Given the description of an element on the screen output the (x, y) to click on. 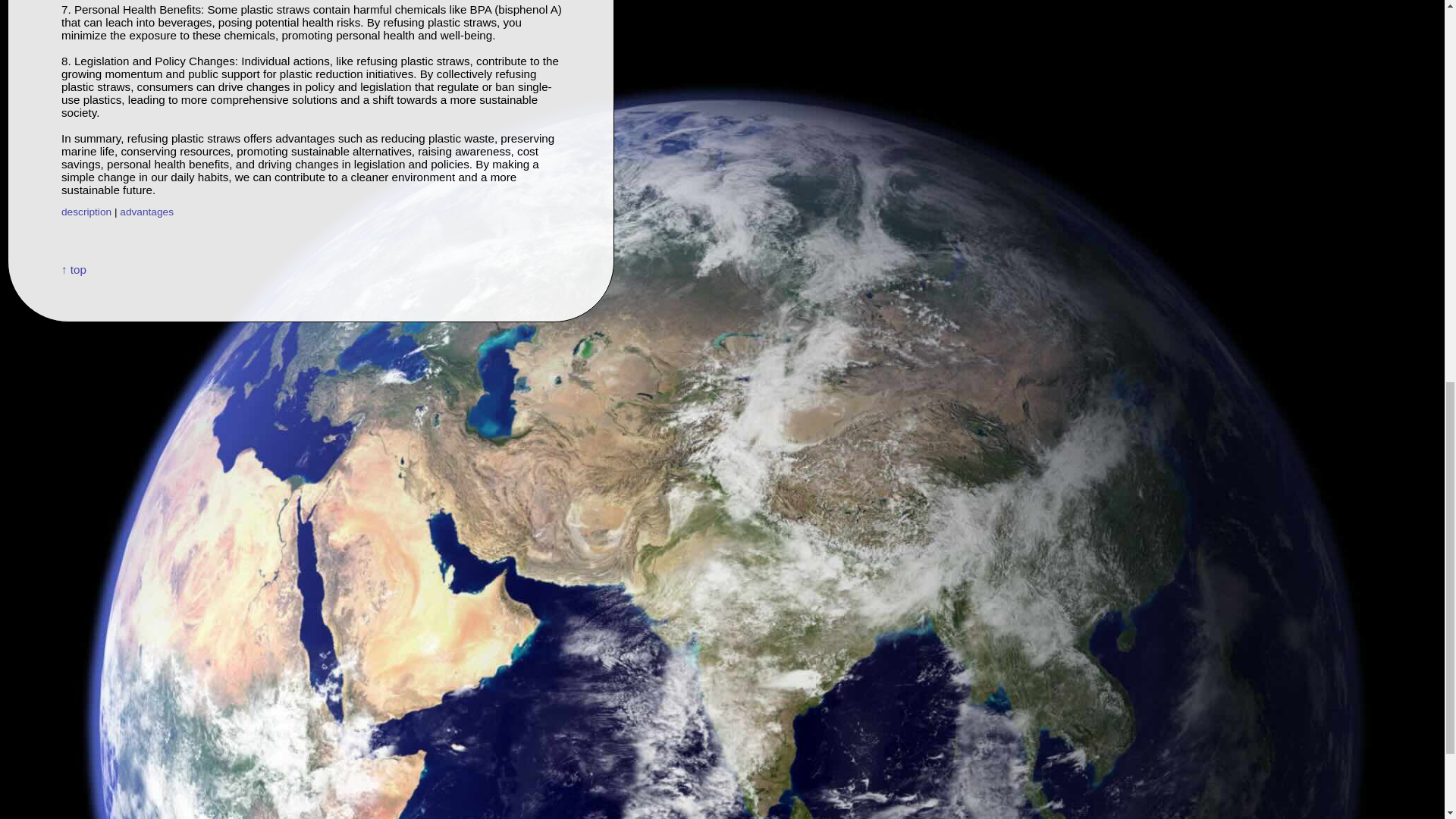
description (86, 211)
advantages (146, 211)
